Given the description of an element on the screen output the (x, y) to click on. 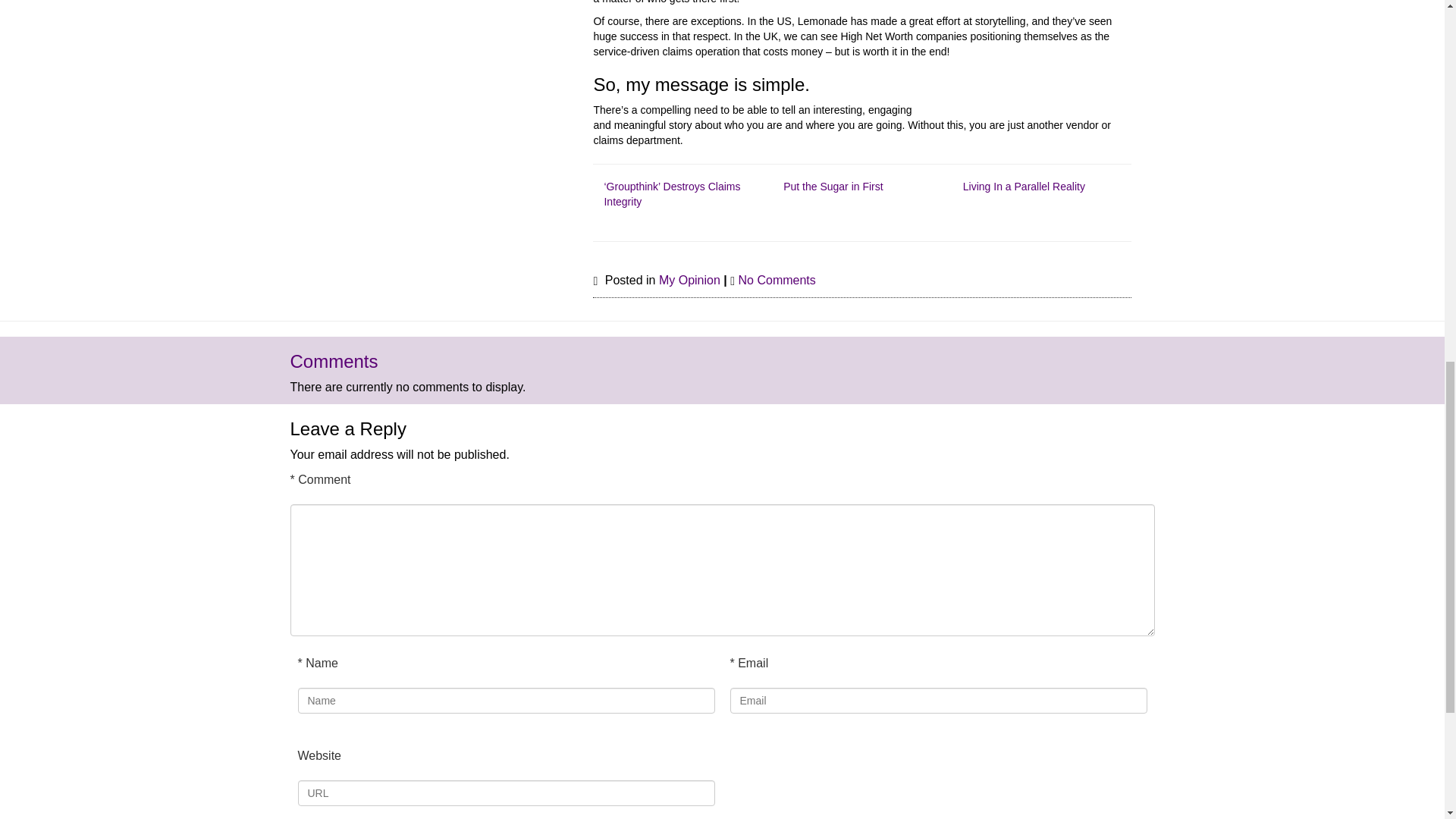
No Comments (776, 279)
Living In a Parallel Reality (1023, 186)
Put the Sugar in First (833, 186)
My Opinion (689, 279)
